Given the description of an element on the screen output the (x, y) to click on. 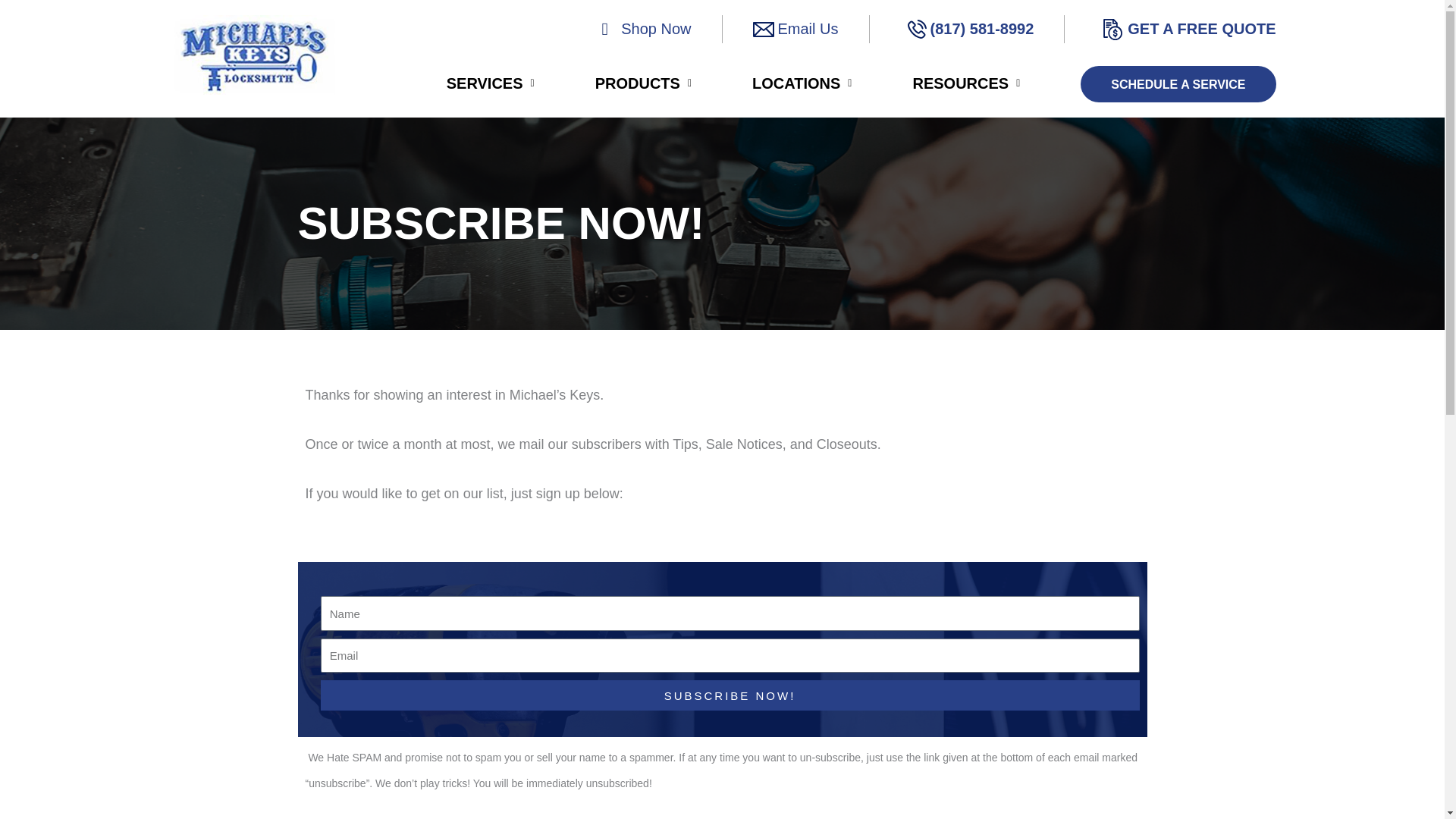
Email Us (807, 28)
LOCATIONS (801, 83)
PRODUCTS (643, 83)
RESOURCES (966, 83)
SERVICES (490, 83)
Shop Now (655, 28)
GET A FREE QUOTE (1200, 28)
